Given the description of an element on the screen output the (x, y) to click on. 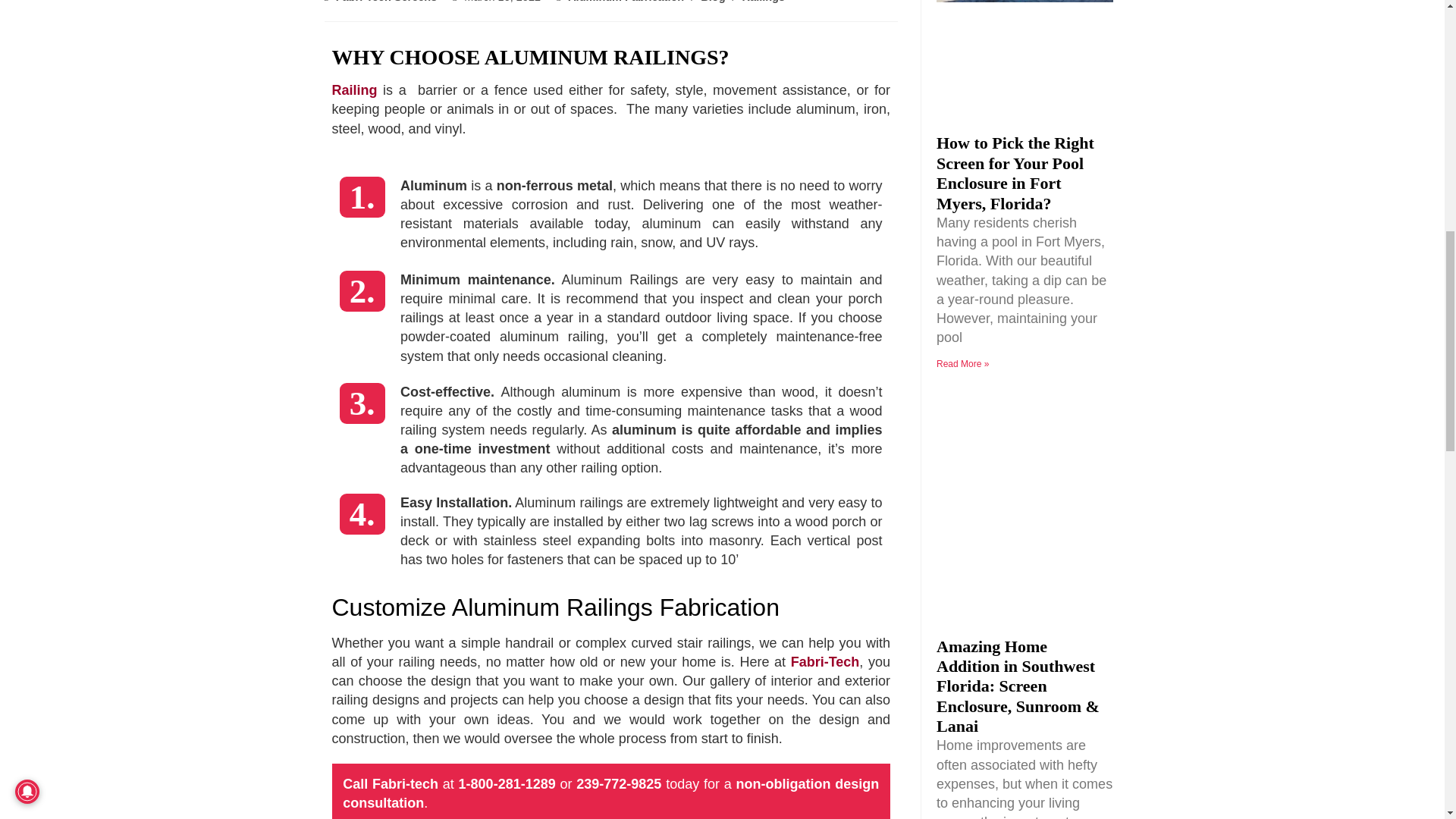
Posts by Fabri-Tech Screens (387, 1)
